Given the description of an element on the screen output the (x, y) to click on. 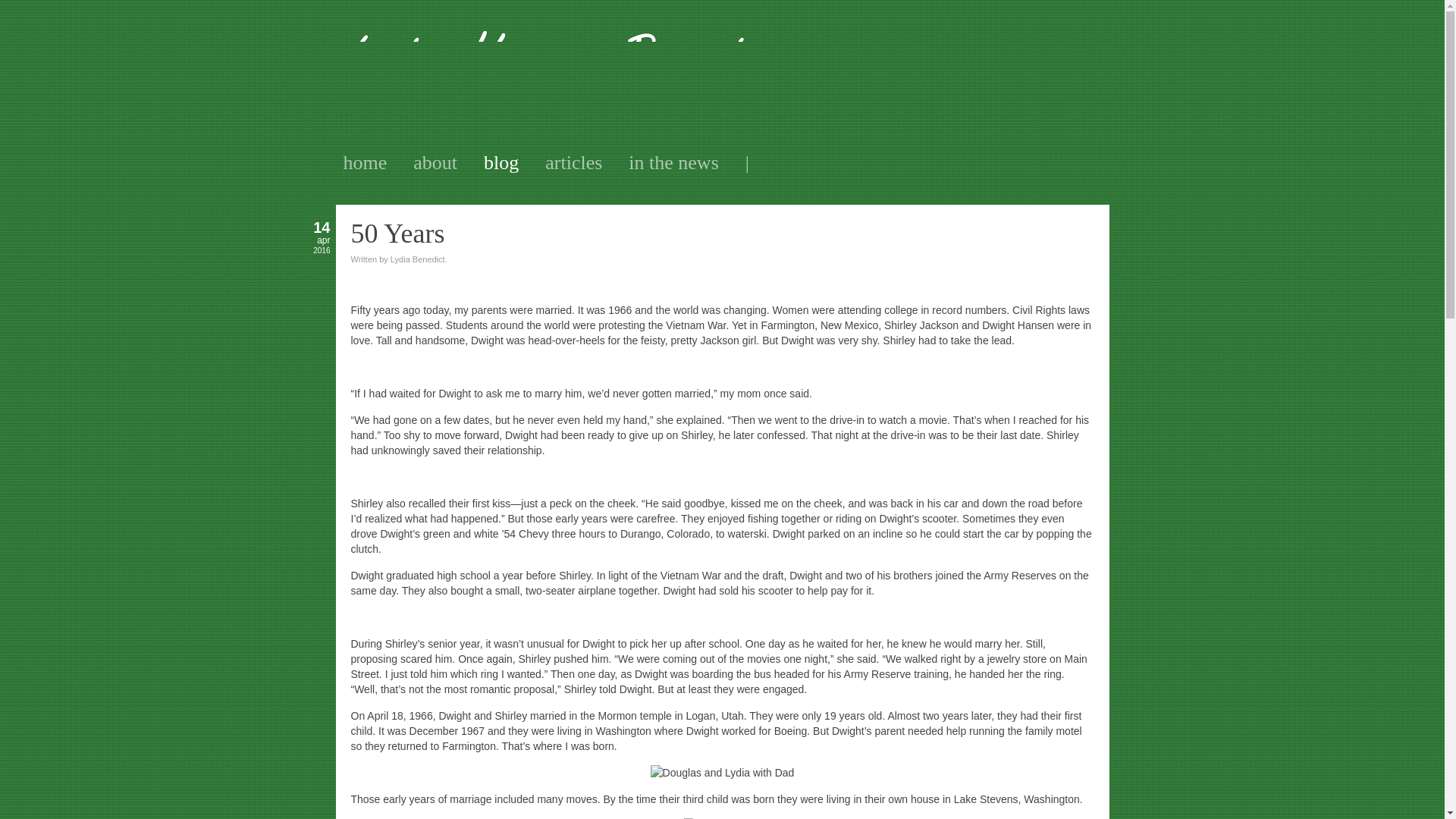
in the news (673, 162)
about (435, 162)
articles (573, 162)
blog (500, 162)
home (364, 162)
